Given the description of an element on the screen output the (x, y) to click on. 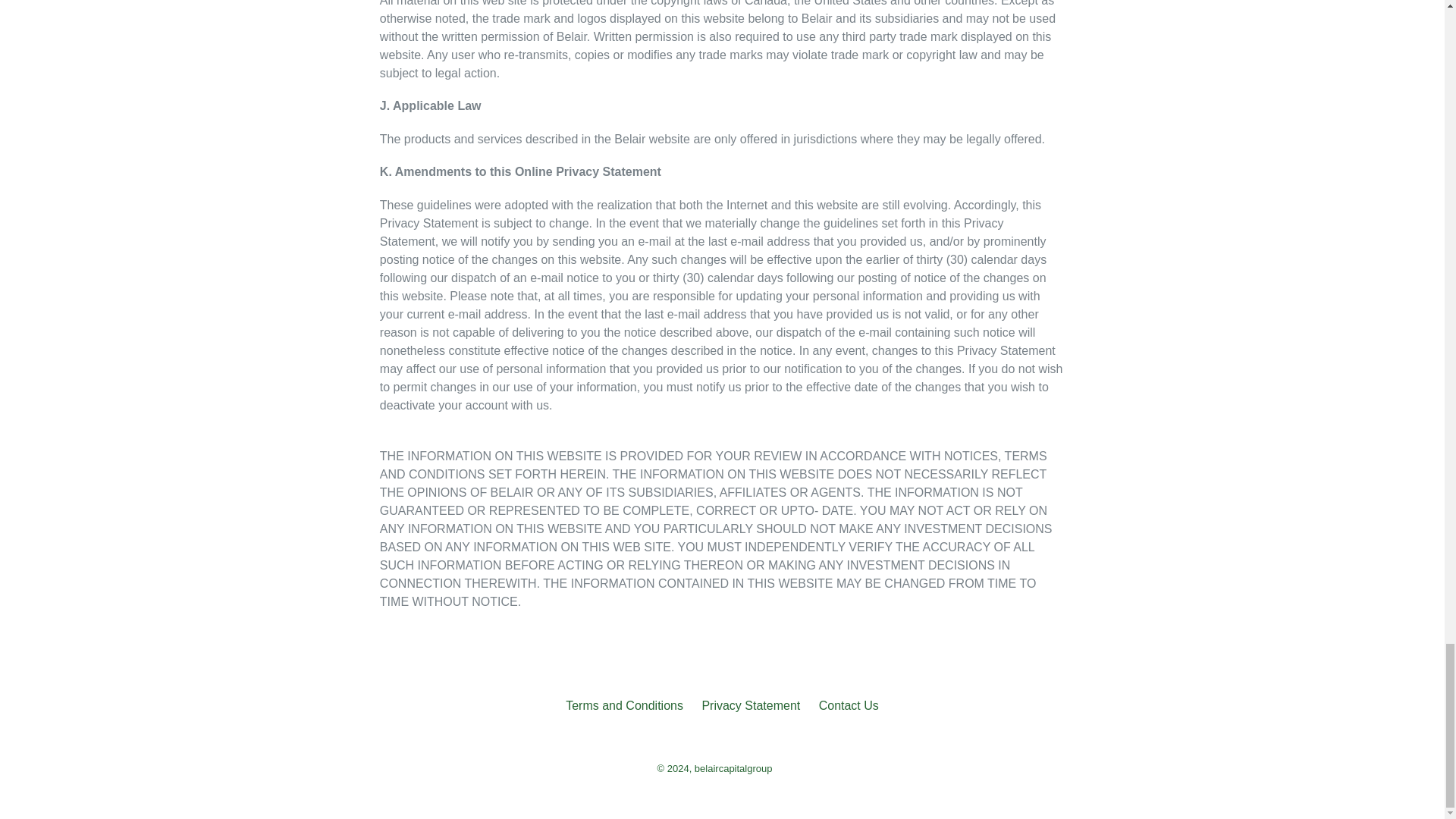
belaircapitalgroup (733, 767)
Terms and Conditions (624, 705)
Privacy Statement (750, 705)
Contact Us (848, 705)
